Given the description of an element on the screen output the (x, y) to click on. 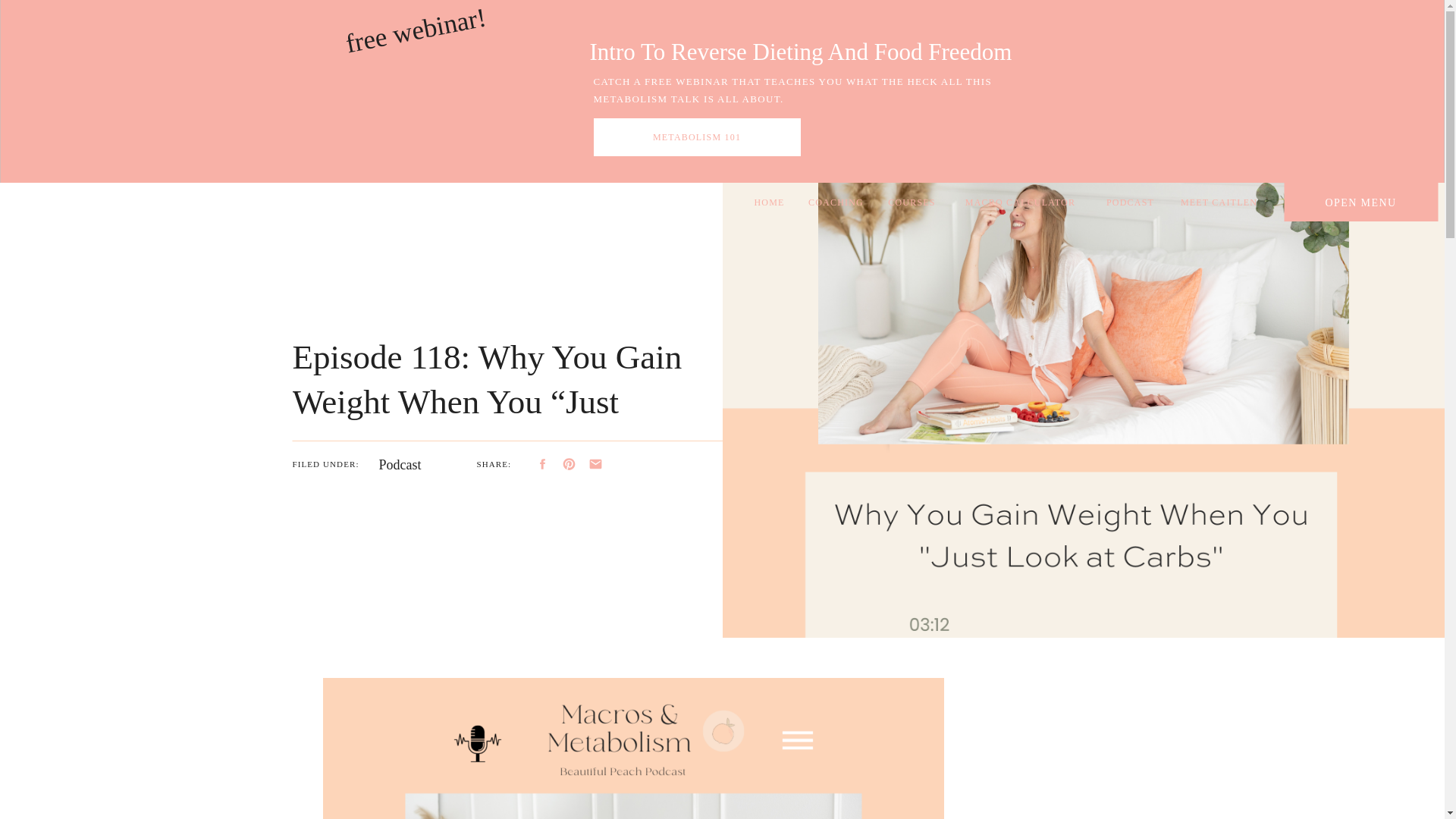
PODCAST (1130, 201)
METABOLISM 101 (695, 137)
MEET CAITLEN (1219, 201)
Podcast (400, 464)
HOME (769, 201)
COACHING (836, 201)
MACRO CALCULATOR (1019, 201)
COURSES (911, 201)
